Given the description of an element on the screen output the (x, y) to click on. 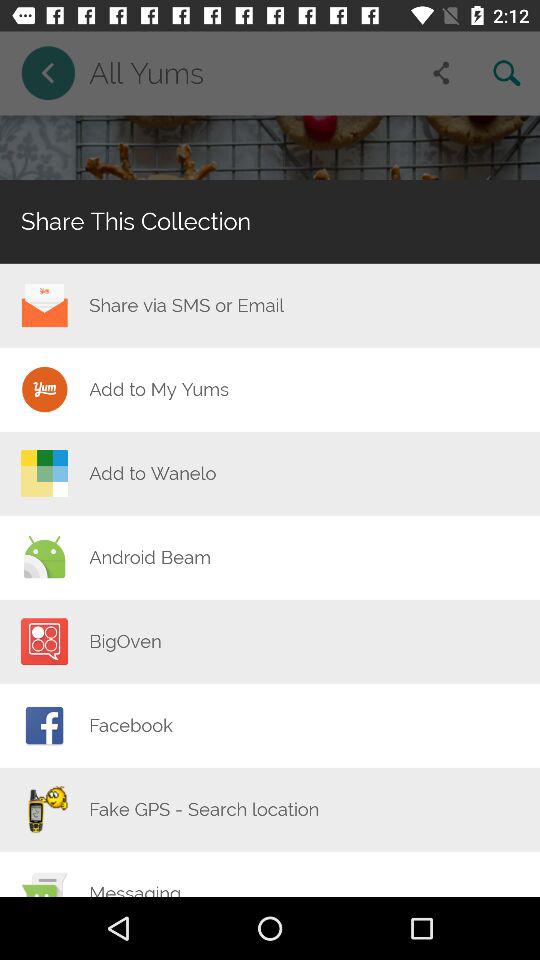
press the item below the fake gps search item (135, 889)
